Given the description of an element on the screen output the (x, y) to click on. 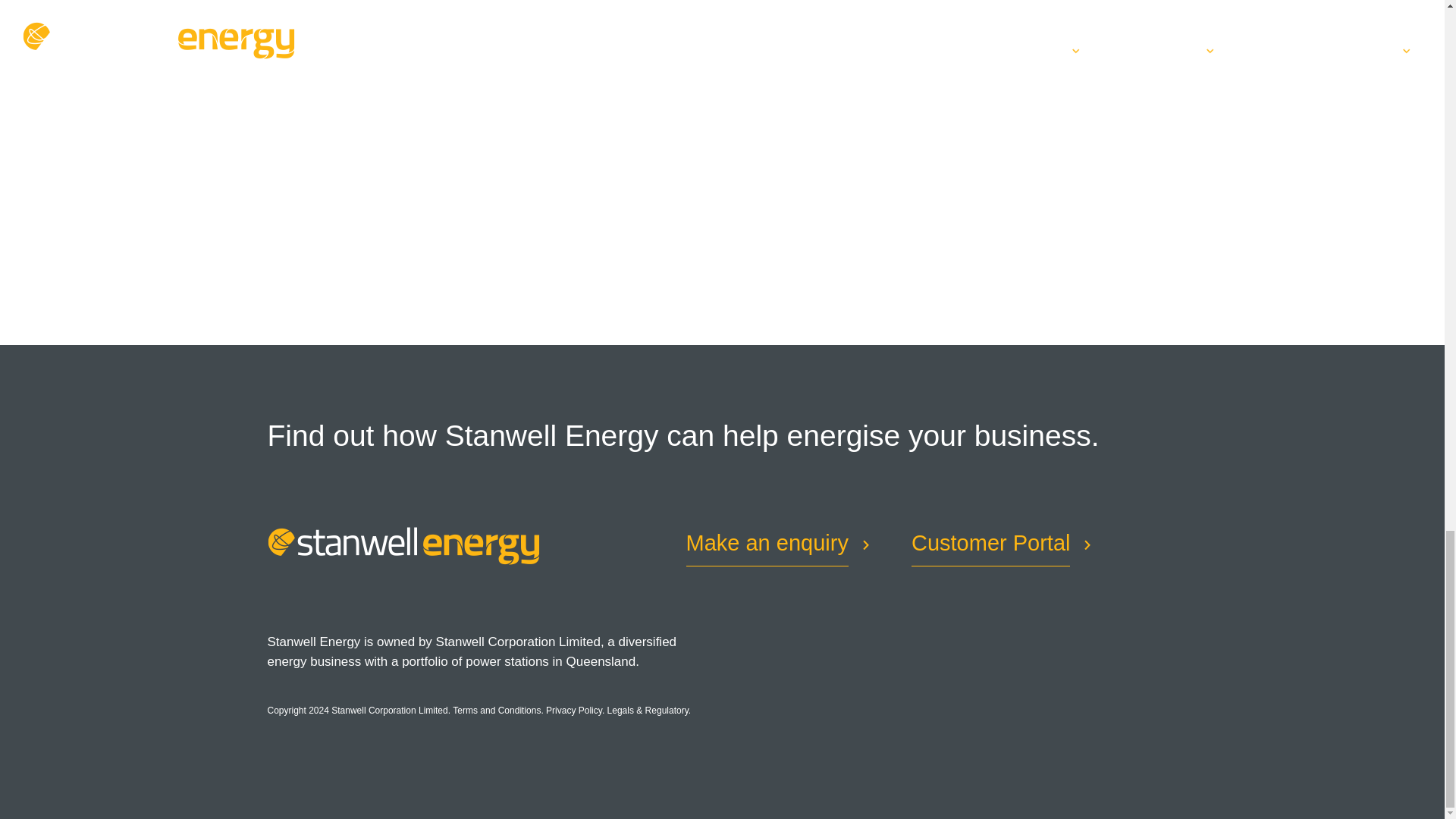
Customer Portal (990, 543)
Stanwell Corporation Limited (388, 710)
Terms and Conditions (496, 710)
Privacy Policy (574, 710)
Make an enquiry (766, 543)
